Given the description of an element on the screen output the (x, y) to click on. 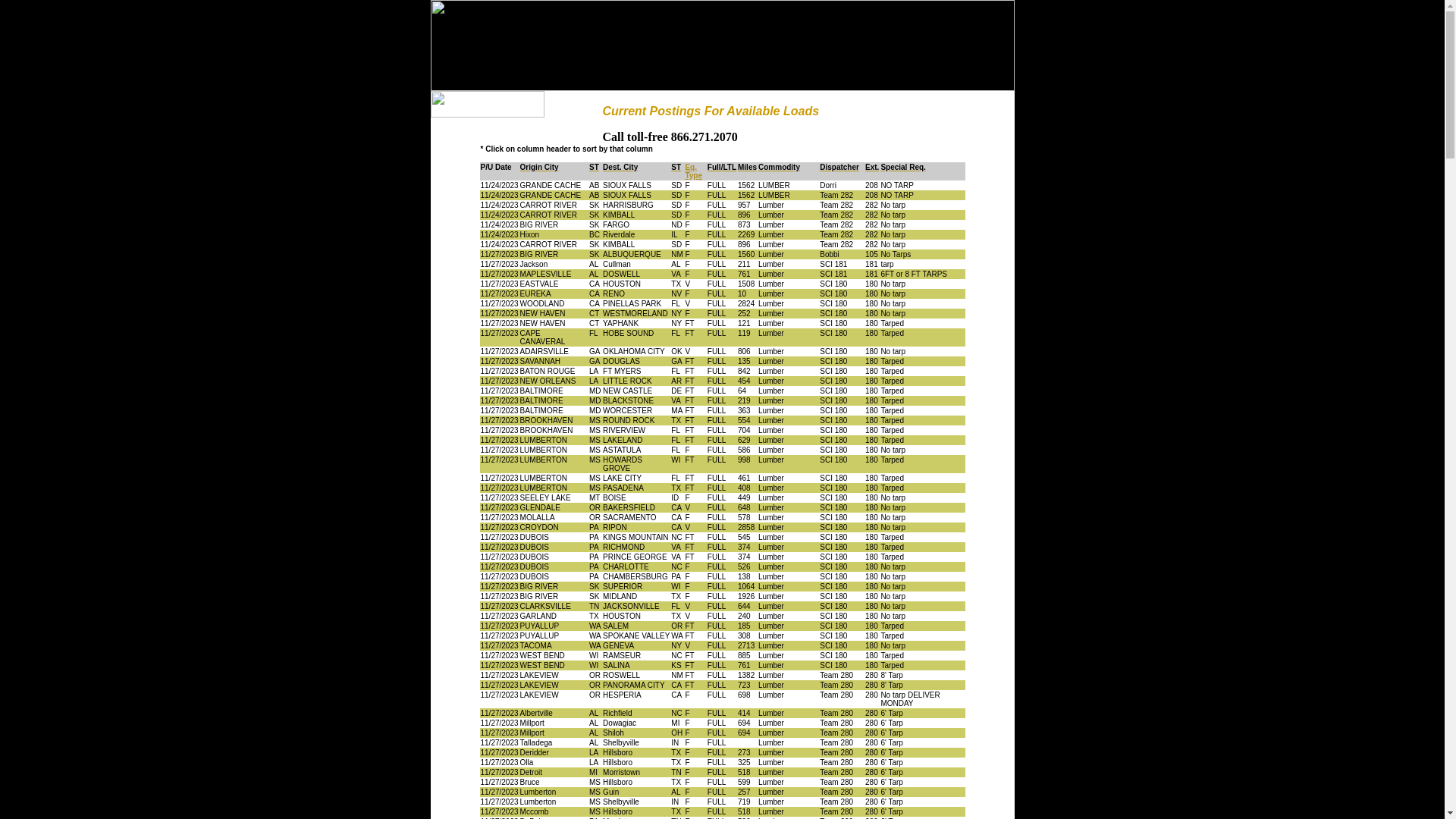
Special Req. Element type: text (902, 165)
Ext. Element type: text (871, 165)
Commodity Element type: text (779, 165)
Full/LTL Element type: text (721, 165)
ST Element type: text (594, 165)
Miles Element type: text (746, 165)
Eq. Type Element type: text (693, 169)
ST Element type: text (675, 165)
Origin City Element type: text (539, 165)
Dispatcher Element type: text (839, 165)
Dest. City Element type: text (619, 165)
